Given the description of an element on the screen output the (x, y) to click on. 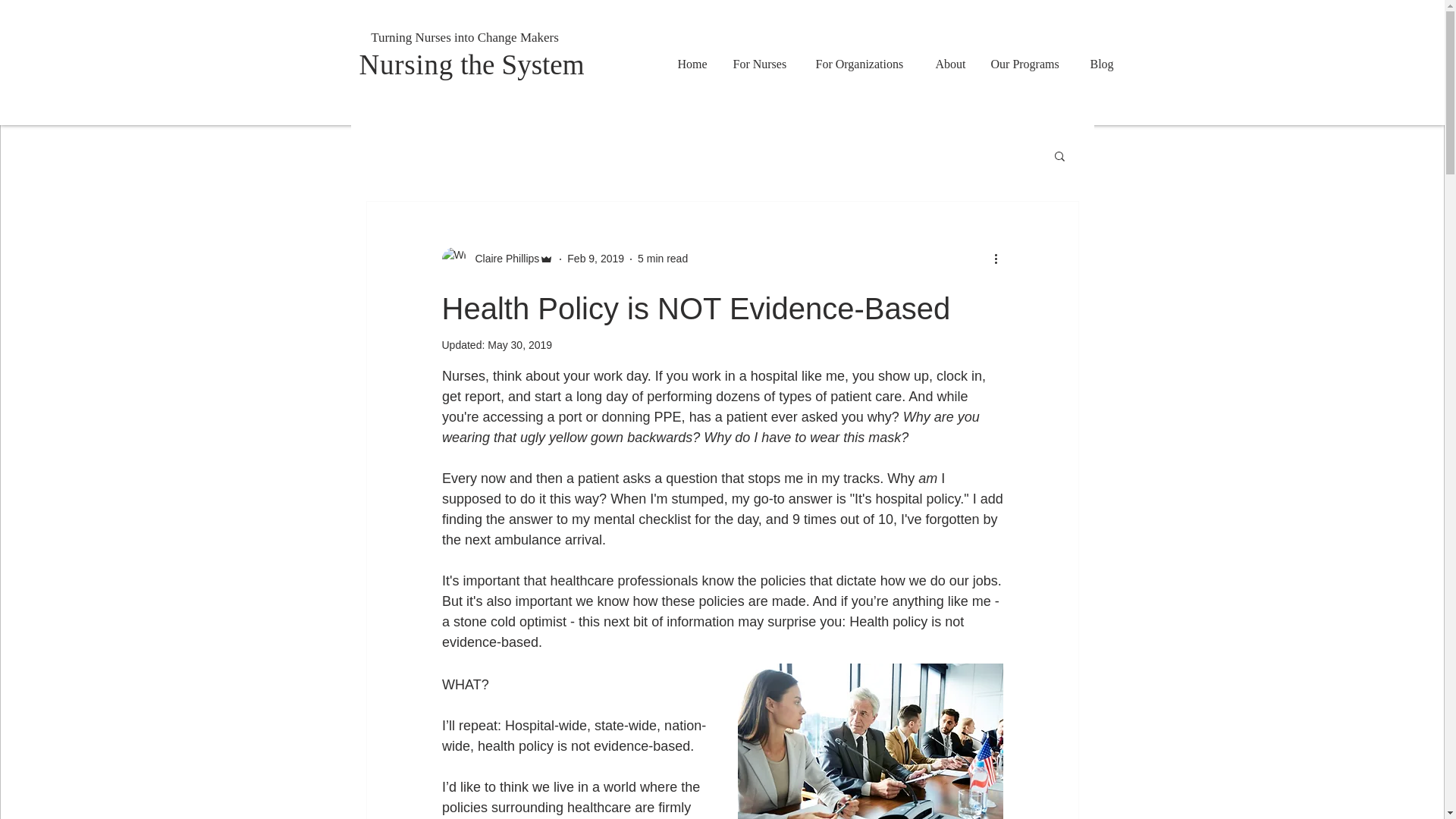
Claire Phillips (497, 259)
About (950, 64)
Home (692, 64)
May 30, 2019 (519, 345)
5 min read (662, 258)
Blog (1101, 64)
Claire Phillips (501, 258)
Feb 9, 2019 (595, 258)
